Given the description of an element on the screen output the (x, y) to click on. 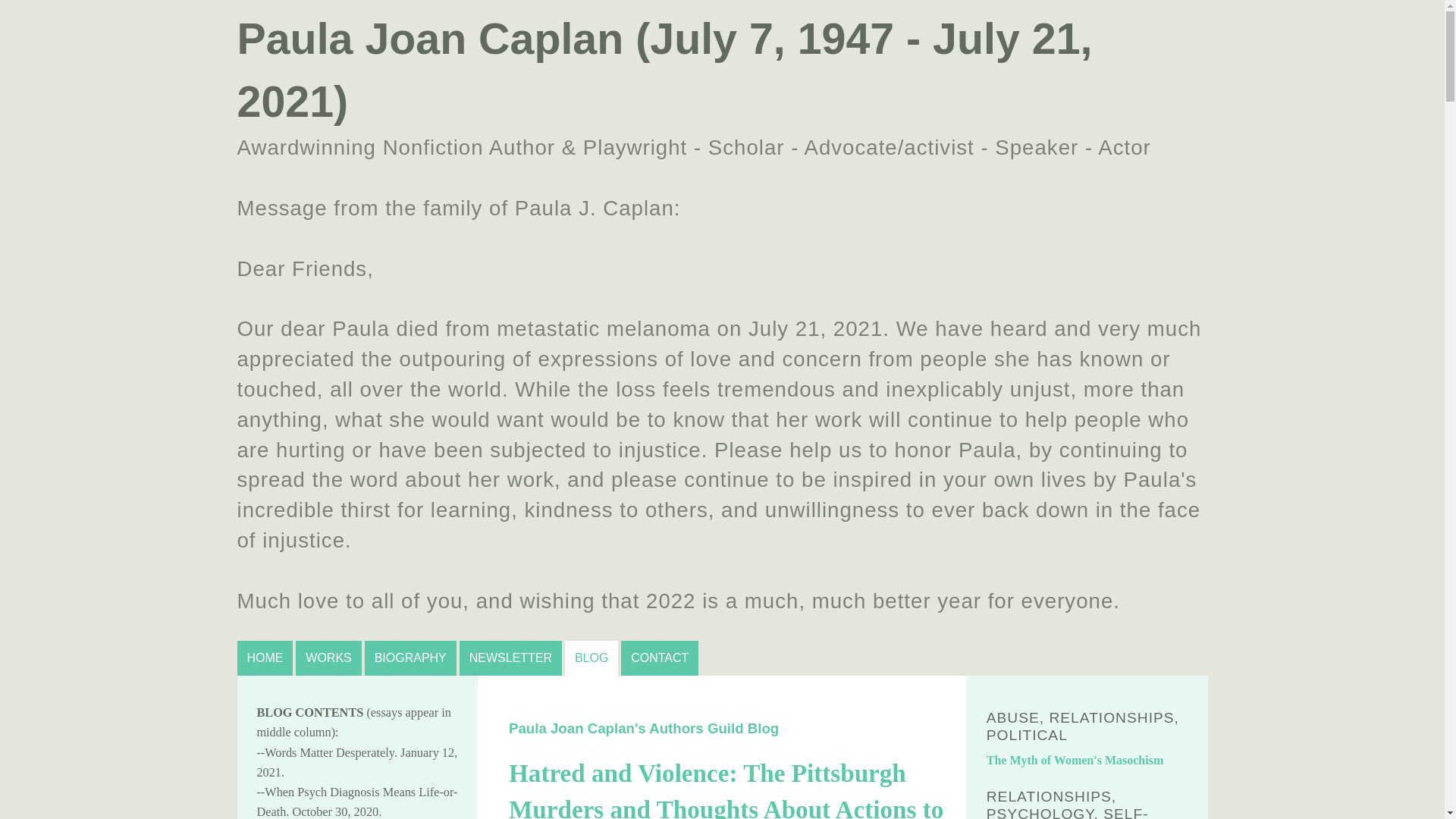
HOME (263, 657)
CONTACT (659, 657)
WORKS (328, 657)
BIOGRAPHY (411, 657)
BLOG (590, 657)
NEWSLETTER (511, 657)
